Given the description of an element on the screen output the (x, y) to click on. 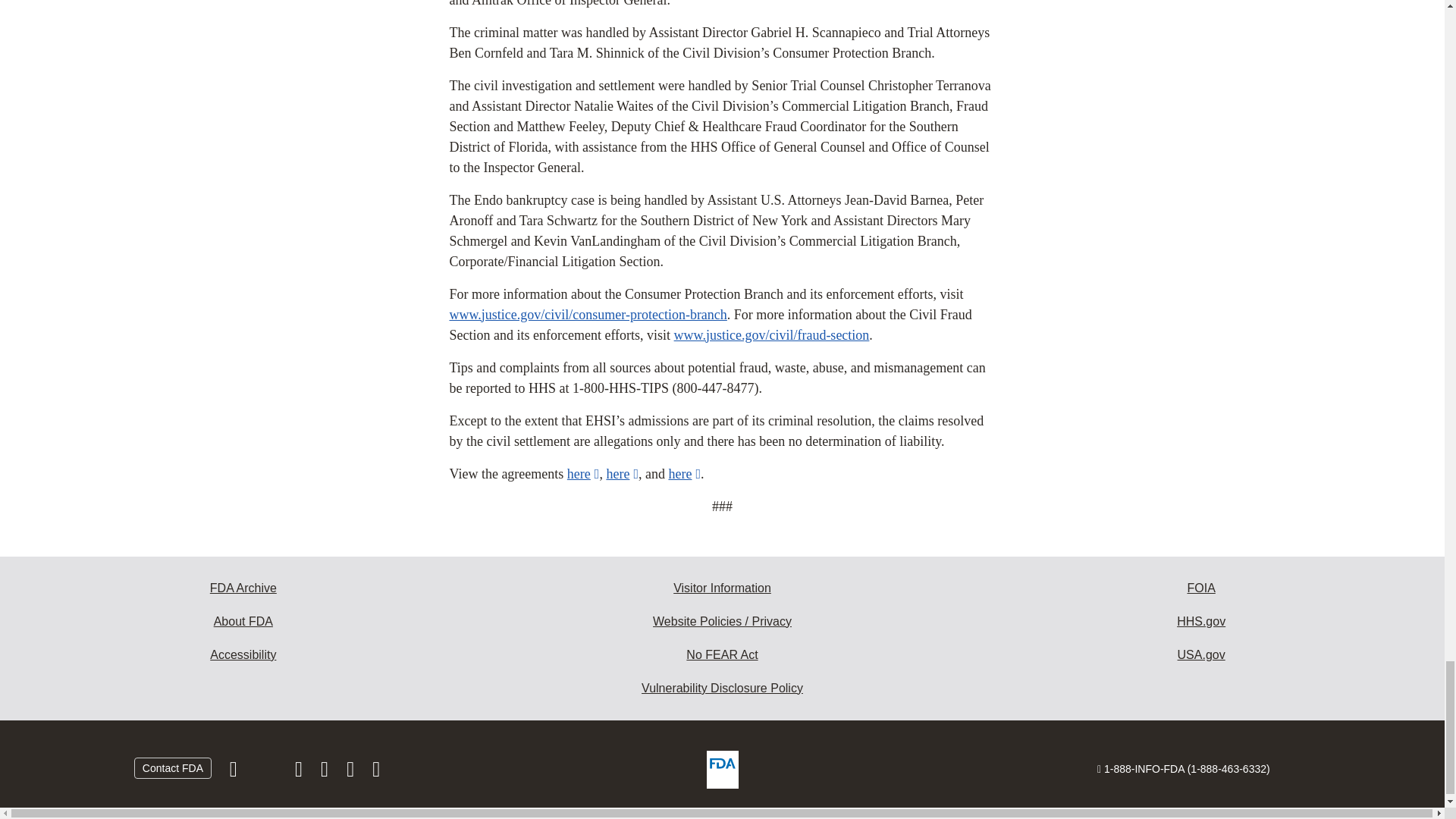
Follow FDA on X (266, 772)
Health and Human Services (1200, 621)
Freedom of Information Act (1200, 588)
View FDA videos on YouTube (352, 772)
Follow FDA on Instagram (299, 772)
Follow FDA on LinkedIn (326, 772)
Follow FDA on Facebook (234, 772)
Subscribe to FDA RSS feeds (376, 772)
